Given the description of an element on the screen output the (x, y) to click on. 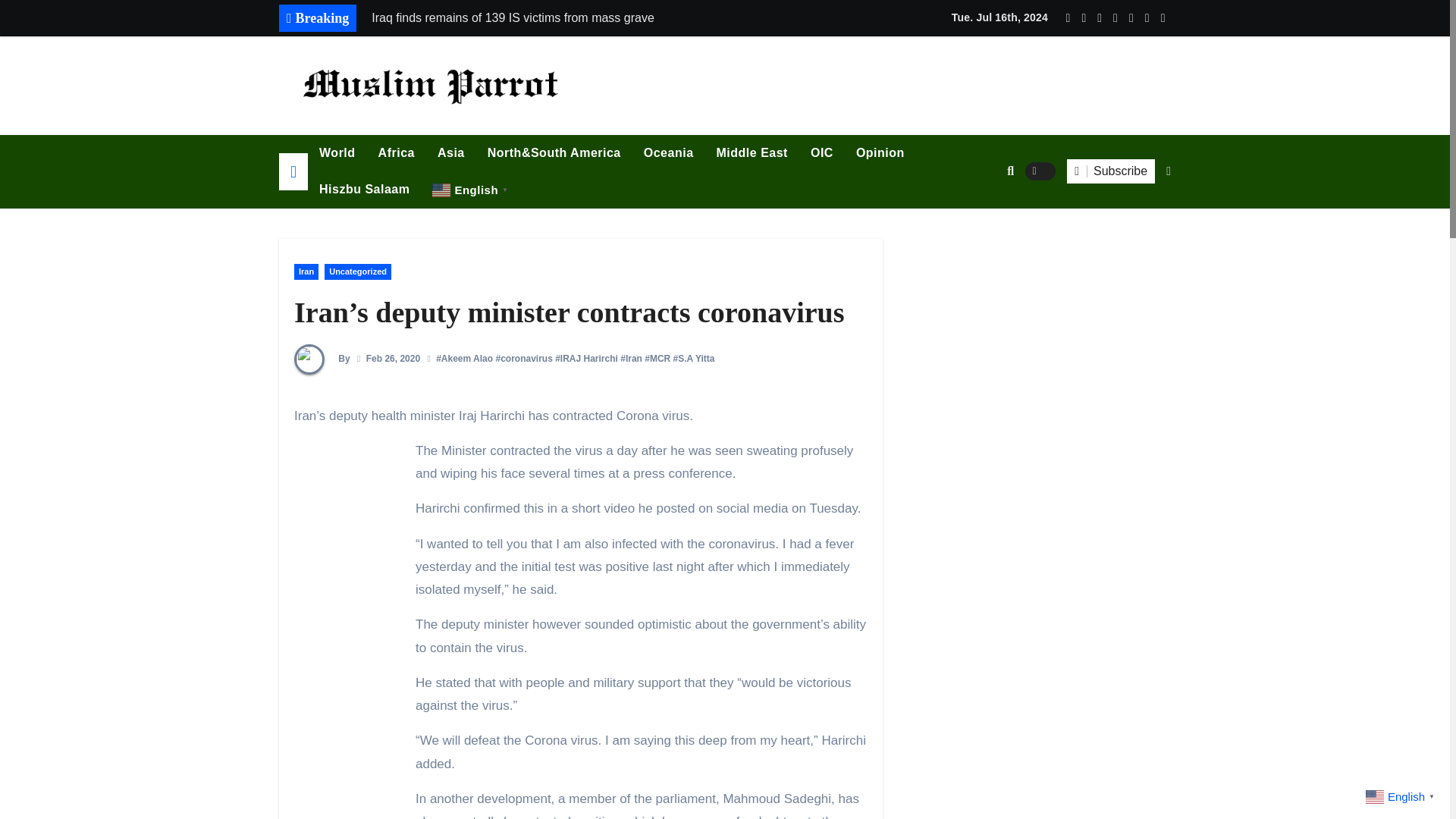
OIC (821, 153)
World (336, 153)
Oceania (667, 153)
Hiszbu Salaam (363, 189)
Opinion (879, 153)
Middle East (751, 153)
Asia (451, 153)
Africa (396, 153)
Iraq finds remains of 139 IS victims from mass grave (574, 18)
